Given the description of an element on the screen output the (x, y) to click on. 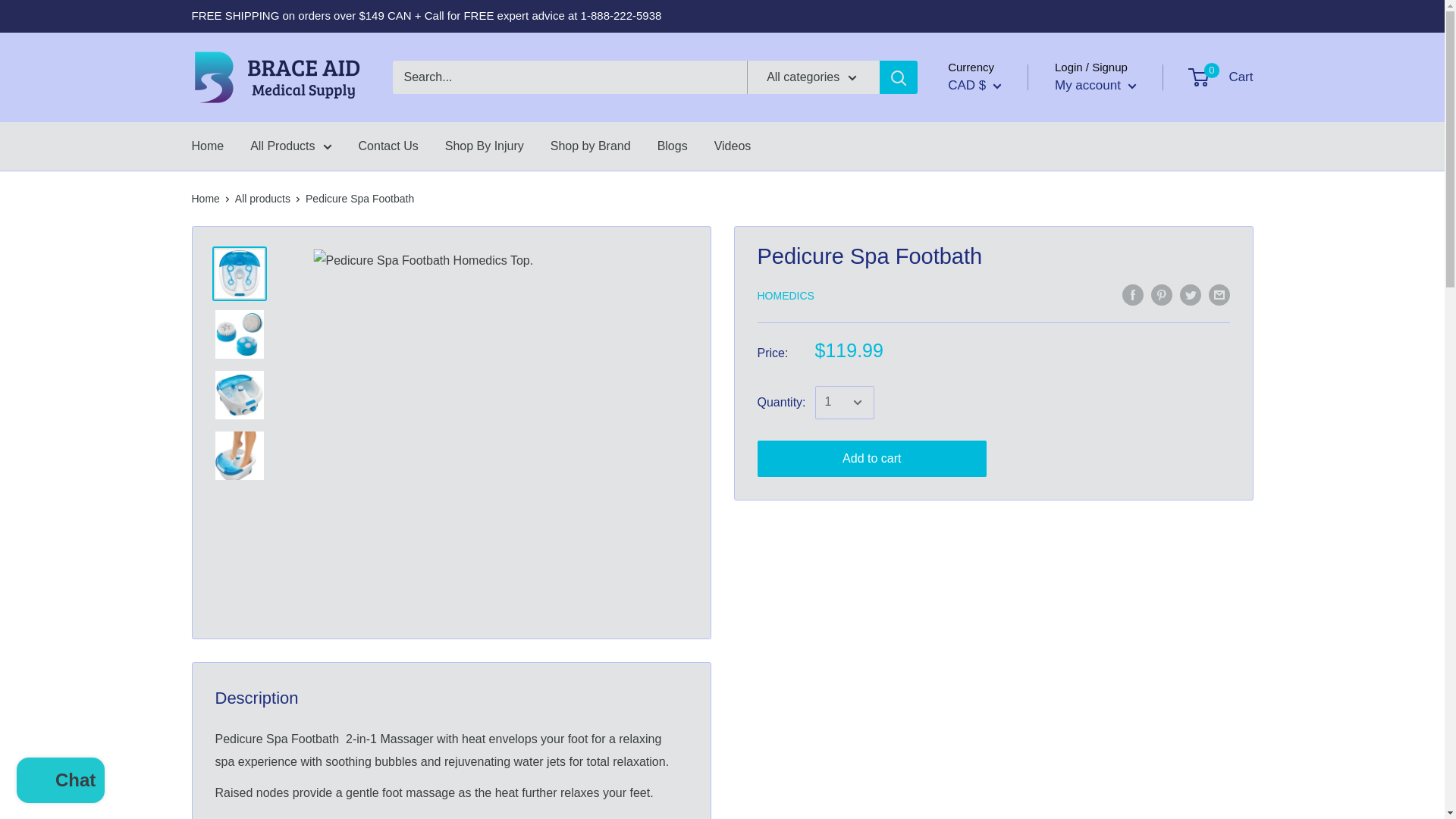
My account (1095, 85)
Shopify online store chat (60, 781)
CAD (986, 126)
USD (986, 149)
